Given the description of an element on the screen output the (x, y) to click on. 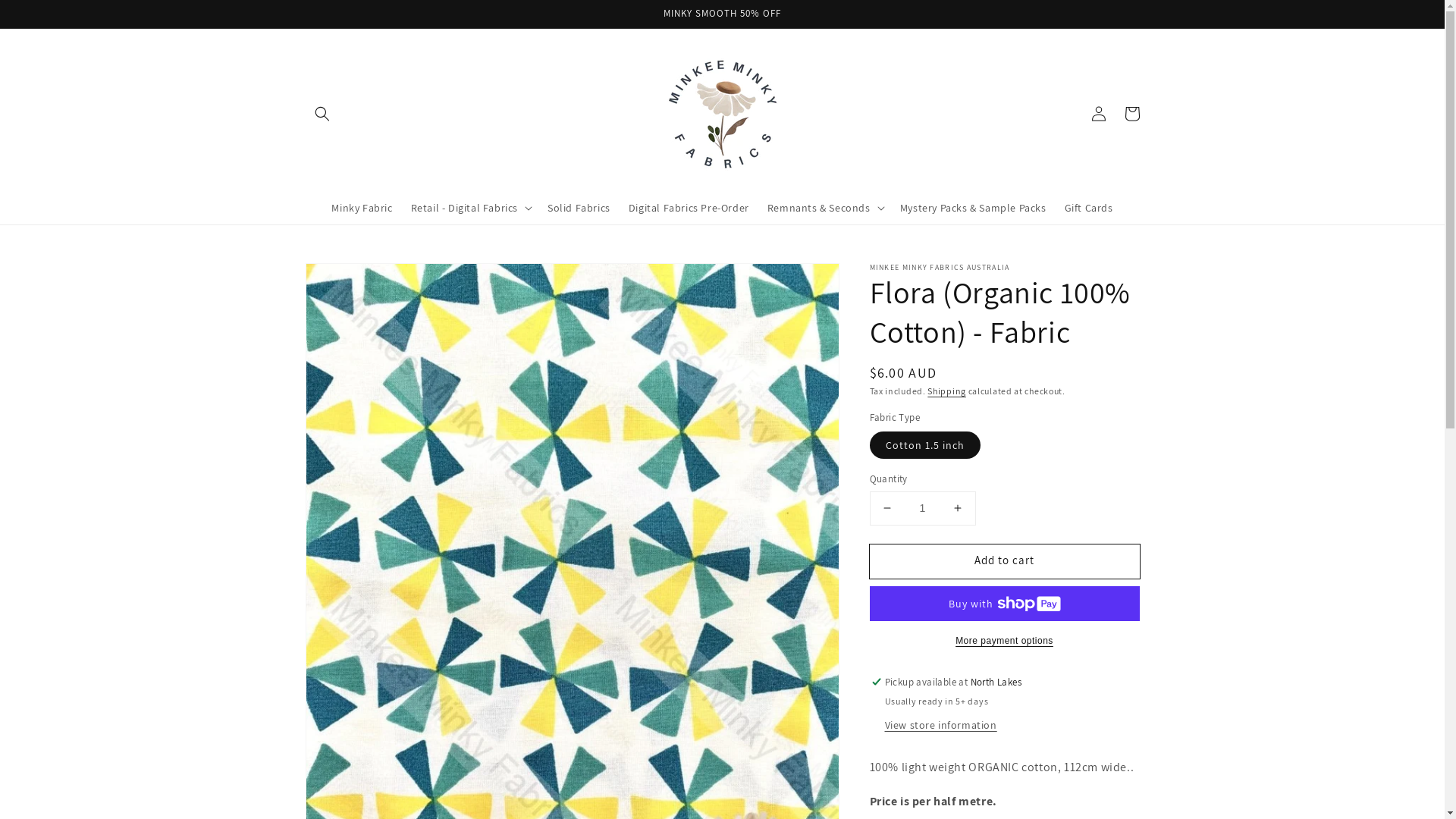
Solid Fabrics Element type: text (578, 207)
Shipping Element type: text (946, 390)
Increase quantity for Flora (Organic 100% Cotton) - Fabric Element type: text (957, 508)
Digital Fabrics Pre-Order Element type: text (688, 207)
Log in Element type: text (1097, 113)
Cart Element type: text (1131, 113)
Minky Fabric Element type: text (361, 207)
Gift Cards Element type: text (1088, 207)
View store information Element type: text (940, 725)
Add to cart Element type: text (1004, 561)
Mystery Packs & Sample Packs Element type: text (973, 207)
More payment options Element type: text (1004, 640)
Decrease quantity for Flora (Organic 100% Cotton) - Fabric Element type: text (887, 508)
Skip to product information Element type: text (349, 279)
